Given the description of an element on the screen output the (x, y) to click on. 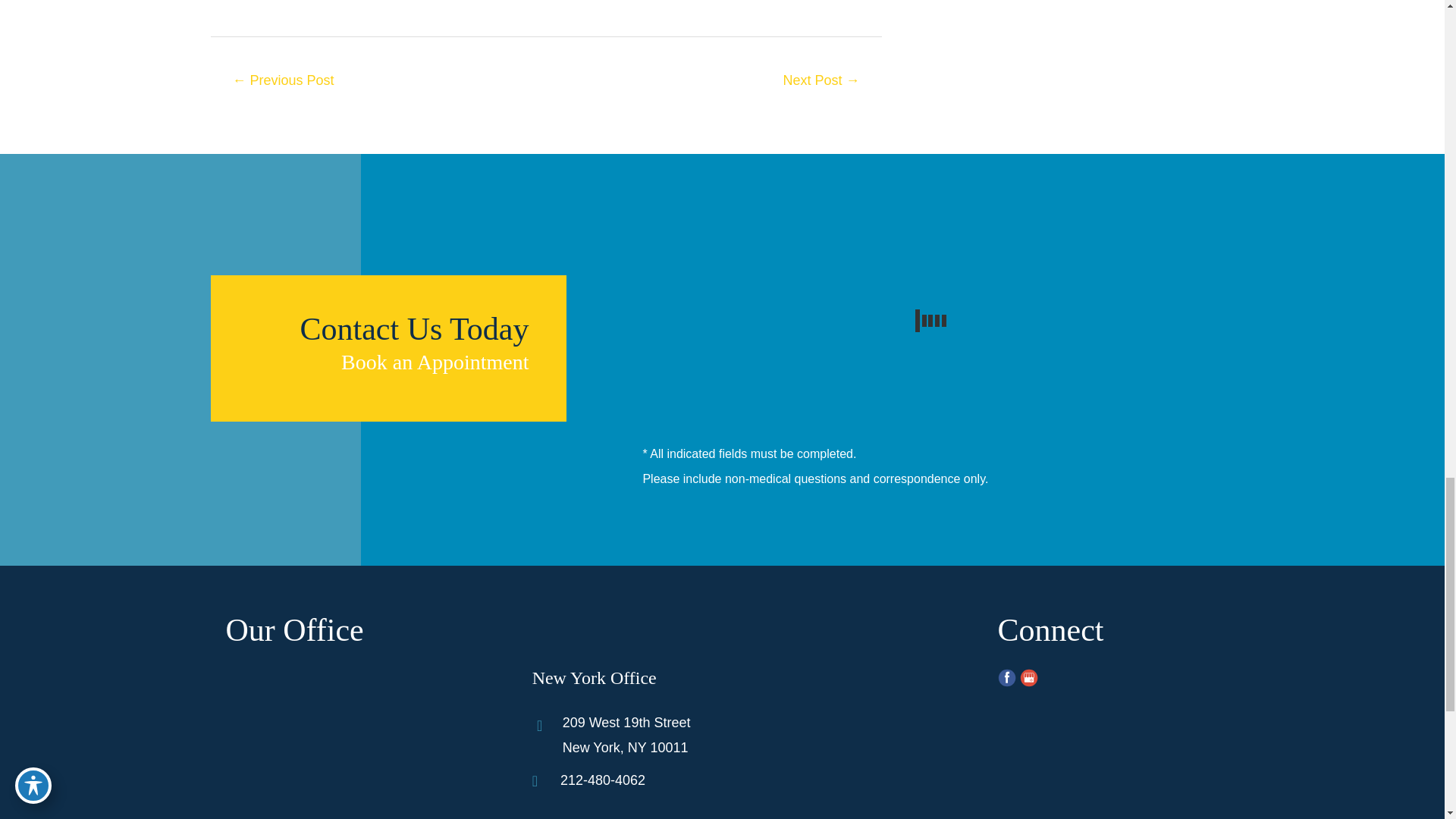
Trouble Breathing: When Should I See the Doctor (820, 81)
Humidity Can Impact Your Lungs (283, 81)
